Given the description of an element on the screen output the (x, y) to click on. 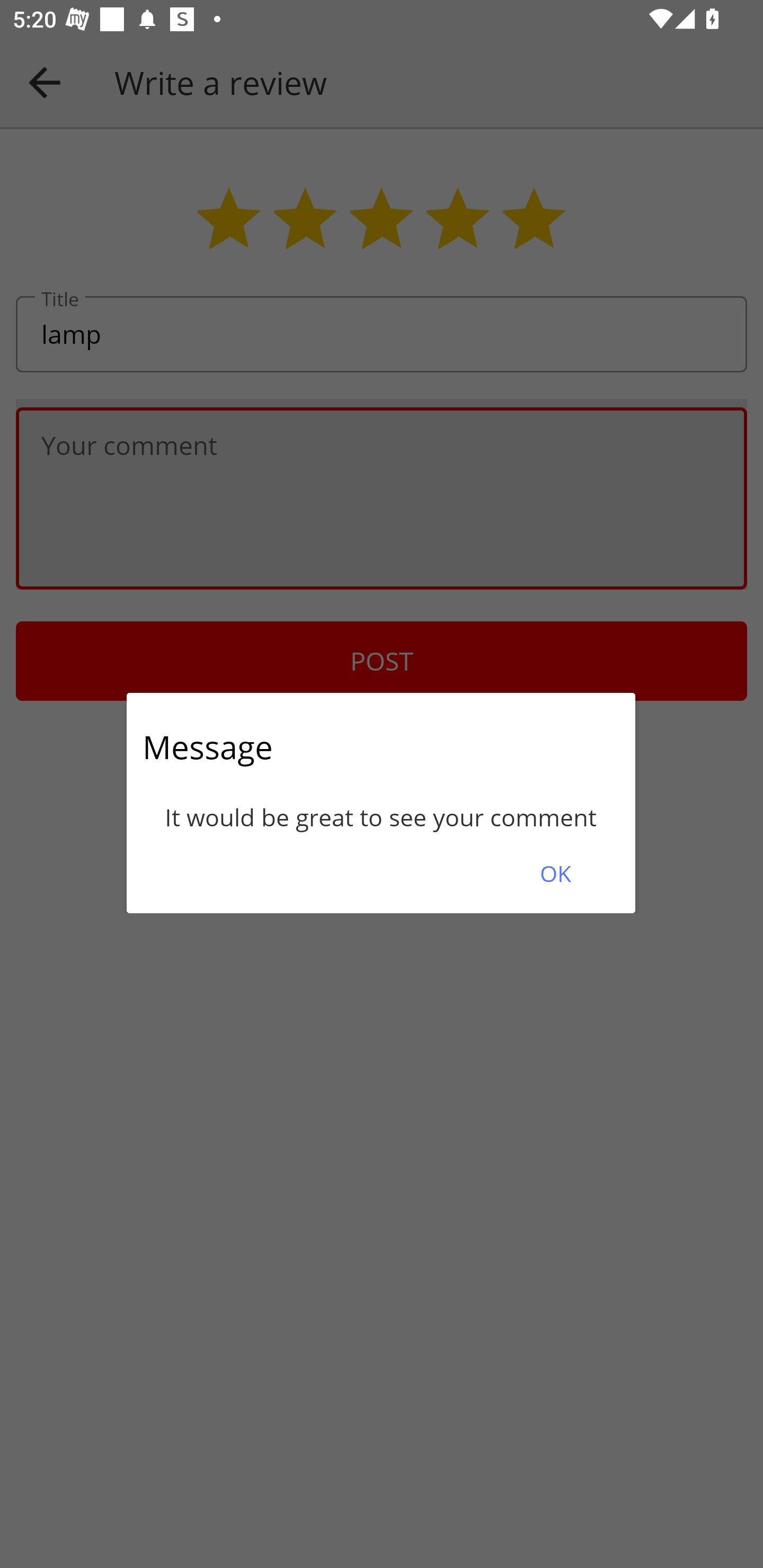
OK (555, 873)
